Given the description of an element on the screen output the (x, y) to click on. 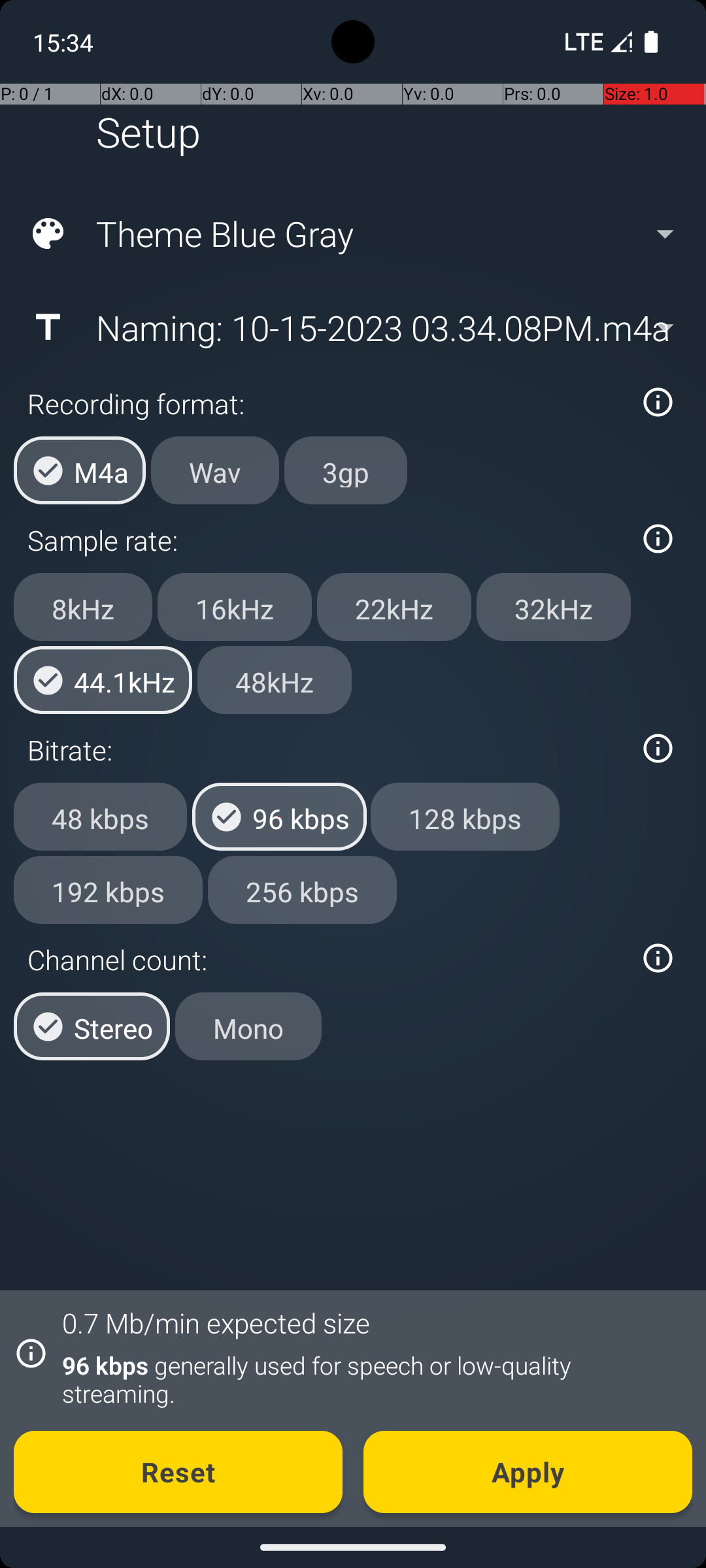
0.7 Mb/min expected size Element type: android.widget.TextView (215, 1322)
96 kbps generally used for speech or low-quality streaming. Element type: android.widget.TextView (370, 1378)
Naming: 10-15-2023 03.34.08PM.m4a Element type: android.widget.TextView (352, 327)
